Given the description of an element on the screen output the (x, y) to click on. 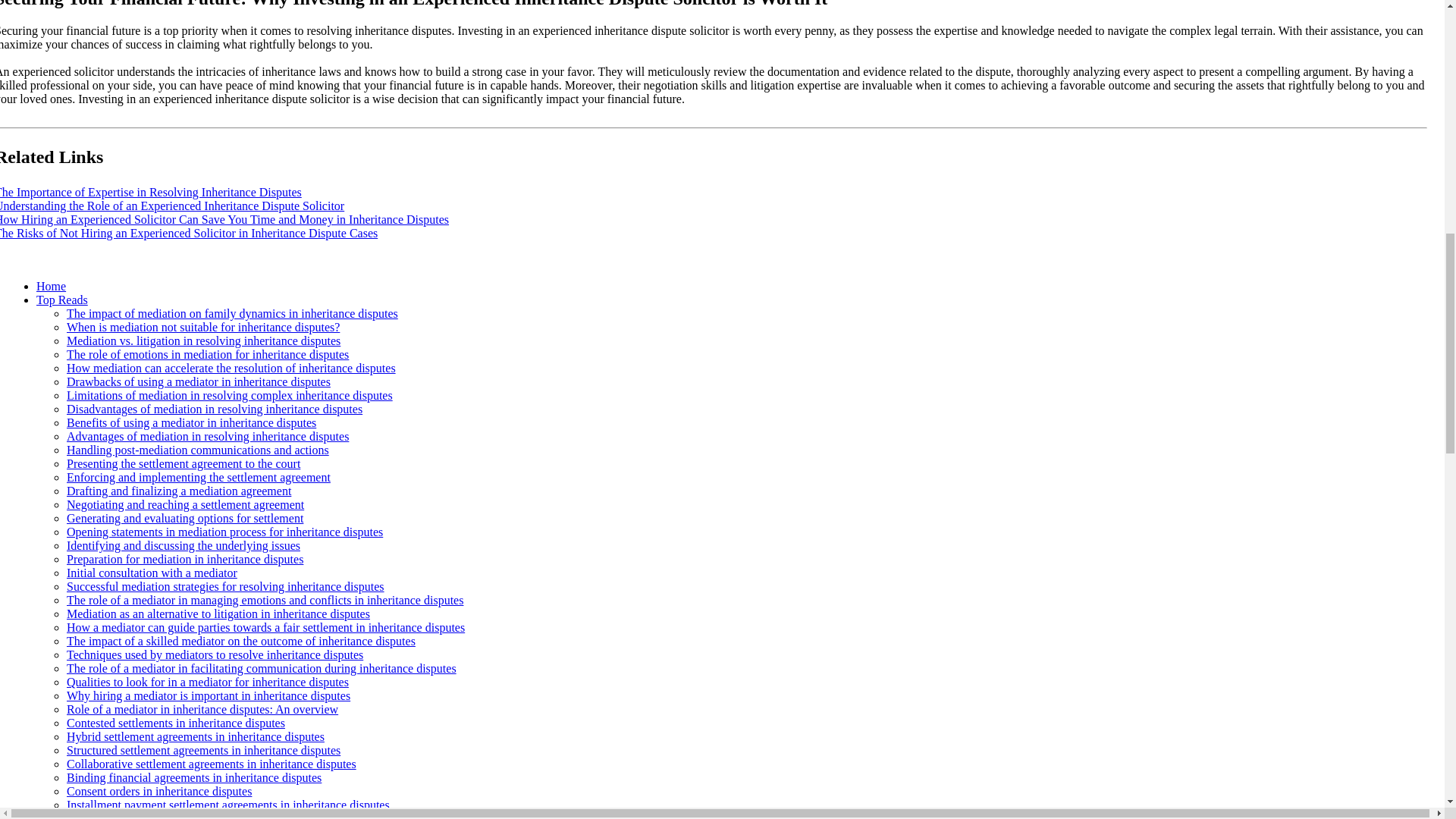
Drafting and finalizing a mediation agreement (178, 490)
Disadvantages of mediation in resolving inheritance disputes (214, 408)
Initial consultation with a mediator (151, 572)
Generating and evaluating options for settlement (184, 517)
Top Reads (61, 299)
Identifying and discussing the underlying issues (182, 545)
